Given the description of an element on the screen output the (x, y) to click on. 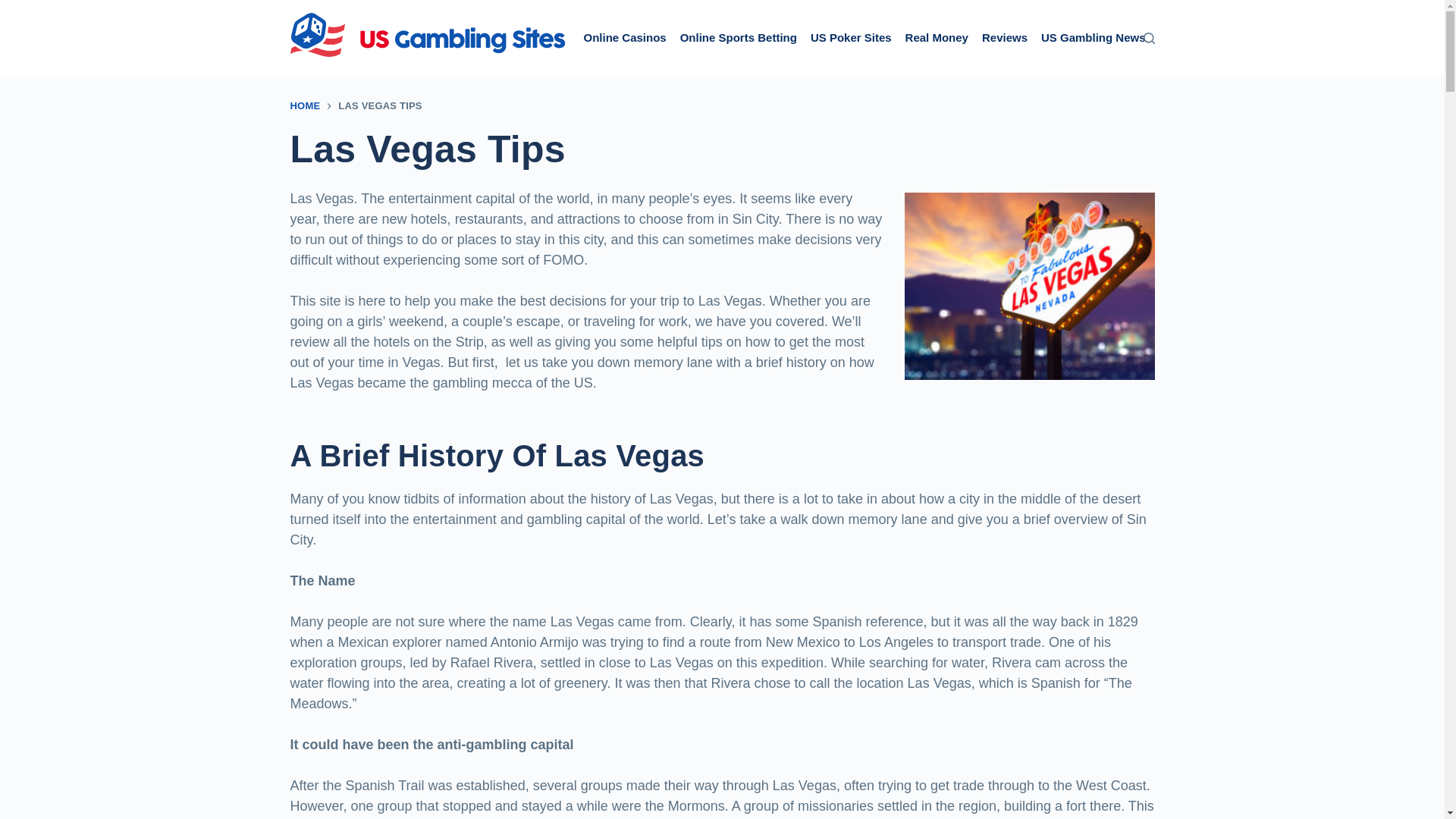
US Poker Sites (850, 38)
US Gambling News (1093, 38)
Online Casinos (624, 38)
HOME (304, 105)
Real Money (936, 38)
Skip to content (15, 7)
Las Vegas Tips (721, 149)
Online Sports Betting (737, 38)
